Given the description of an element on the screen output the (x, y) to click on. 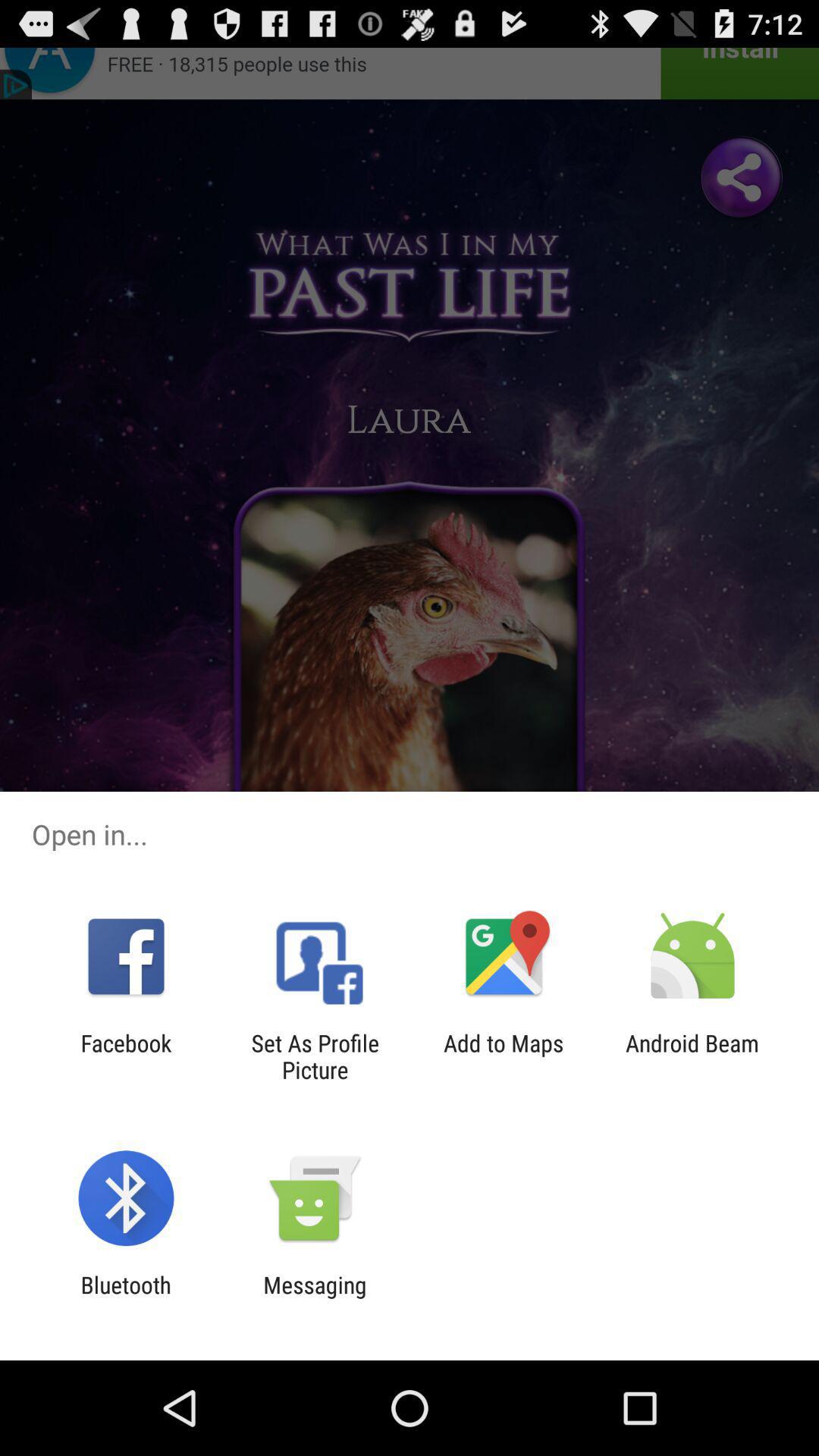
launch facebook icon (125, 1056)
